Given the description of an element on the screen output the (x, y) to click on. 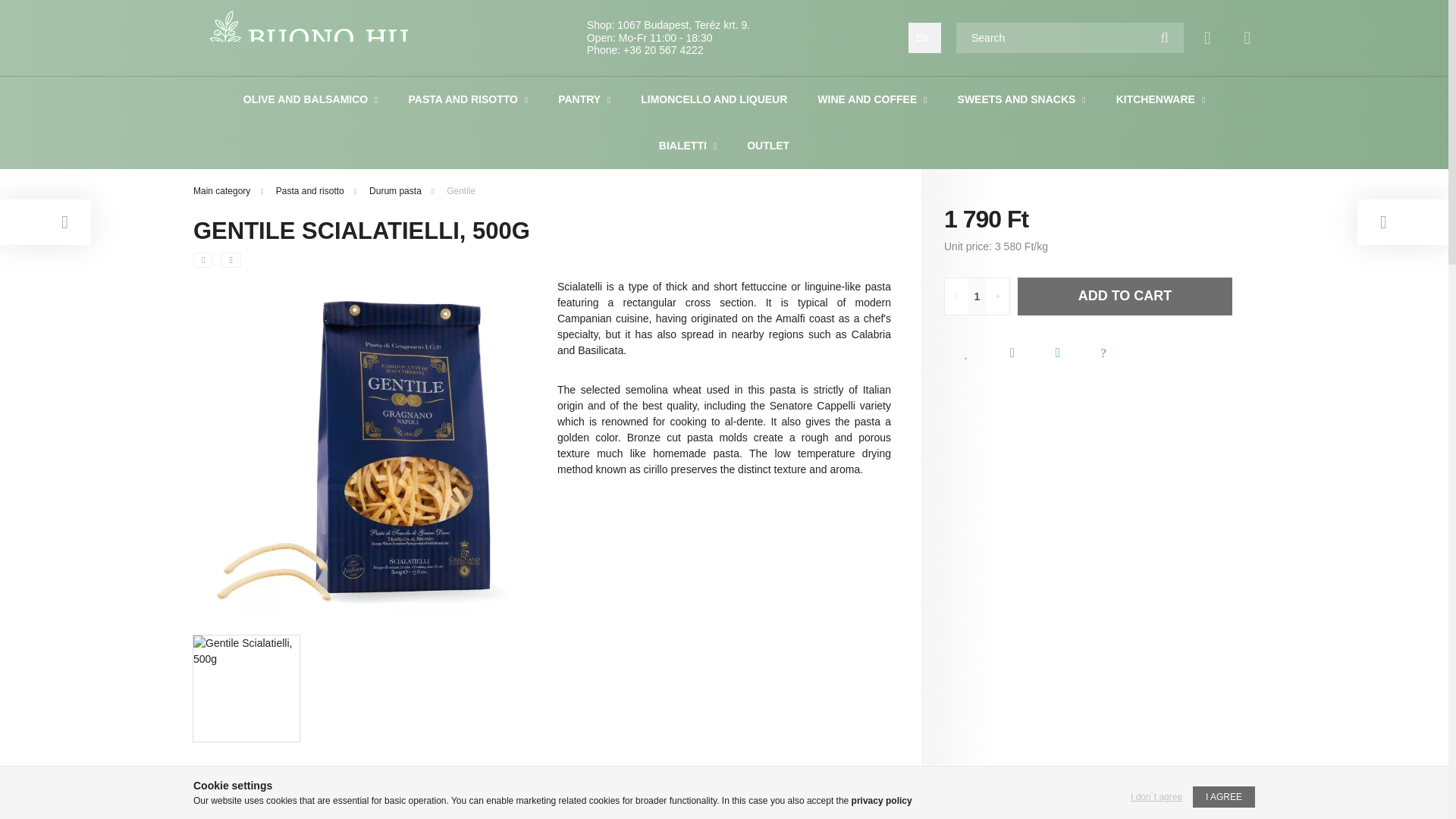
Gentile Scialatielli, 500g (246, 688)
PASTA AND RISOTTO (463, 99)
LIMONCELLO AND LIQUEUR (713, 99)
Gentile Scialatielli, 500g (360, 445)
OLIVE AND BALSAMICO (307, 99)
PANTRY (580, 99)
WINE AND COFFEE (868, 99)
Enter a longer search term! (1069, 37)
Main category  (223, 190)
